Given the description of an element on the screen output the (x, y) to click on. 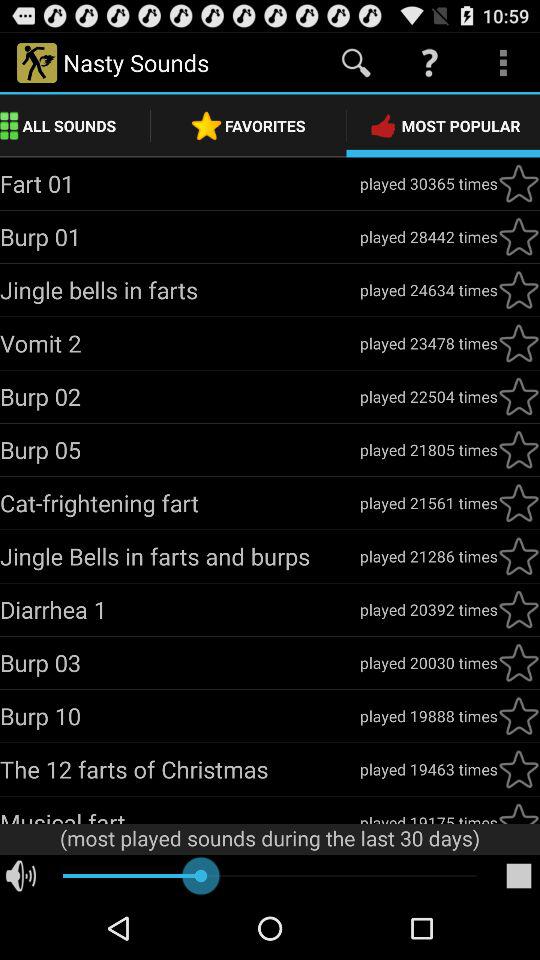
add to favorite list (519, 183)
